Given the description of an element on the screen output the (x, y) to click on. 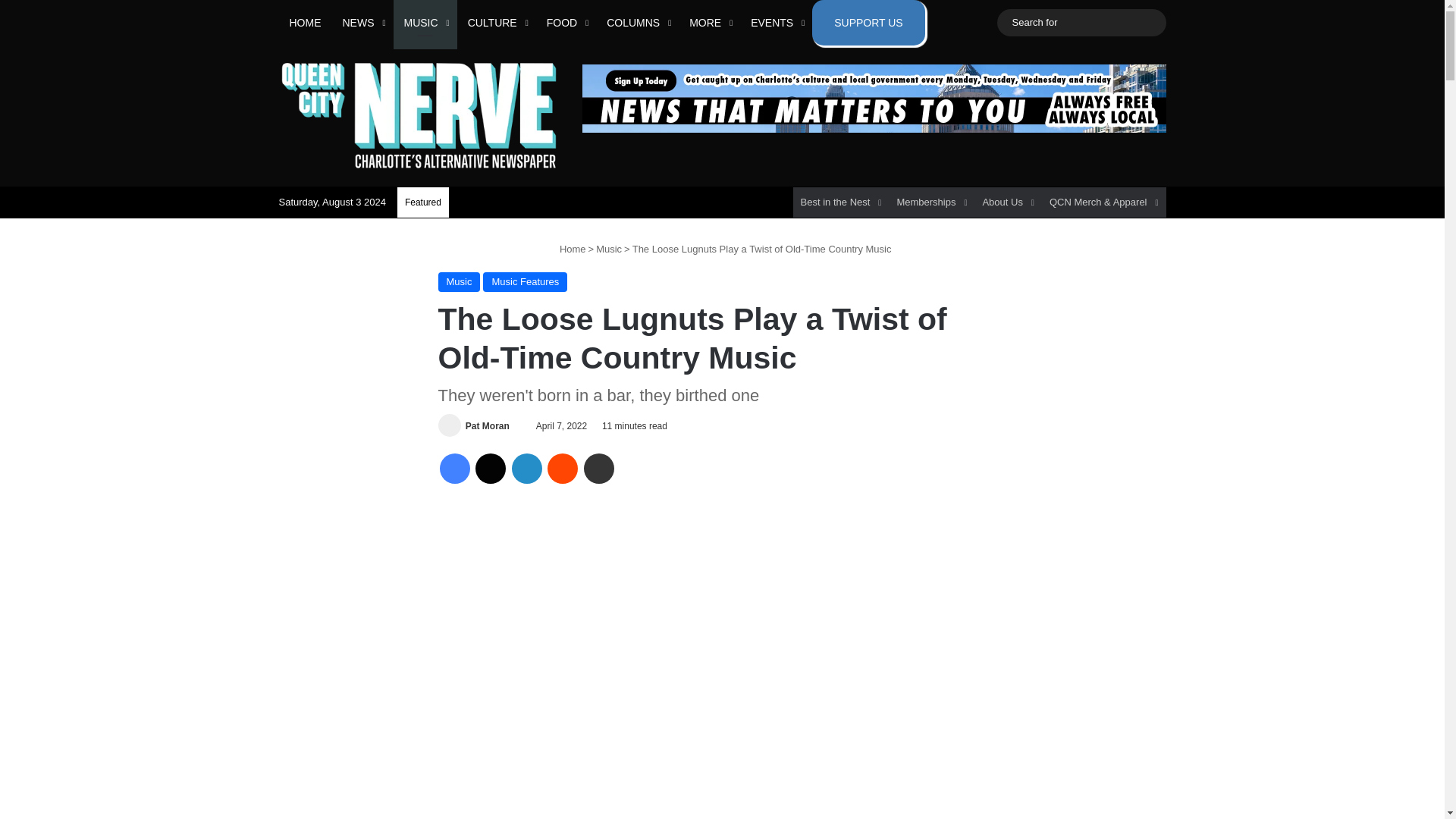
X (490, 468)
FOOD (565, 22)
Facebook (454, 468)
HOME (305, 22)
MUSIC (425, 22)
Reddit (562, 468)
CULTURE (496, 22)
Share via Email (598, 468)
LinkedIn (526, 468)
Pat Moran (487, 425)
Queen City Nerve (419, 115)
NEWS (362, 22)
COLUMNS (636, 22)
Search for (1080, 22)
